Given the description of an element on the screen output the (x, y) to click on. 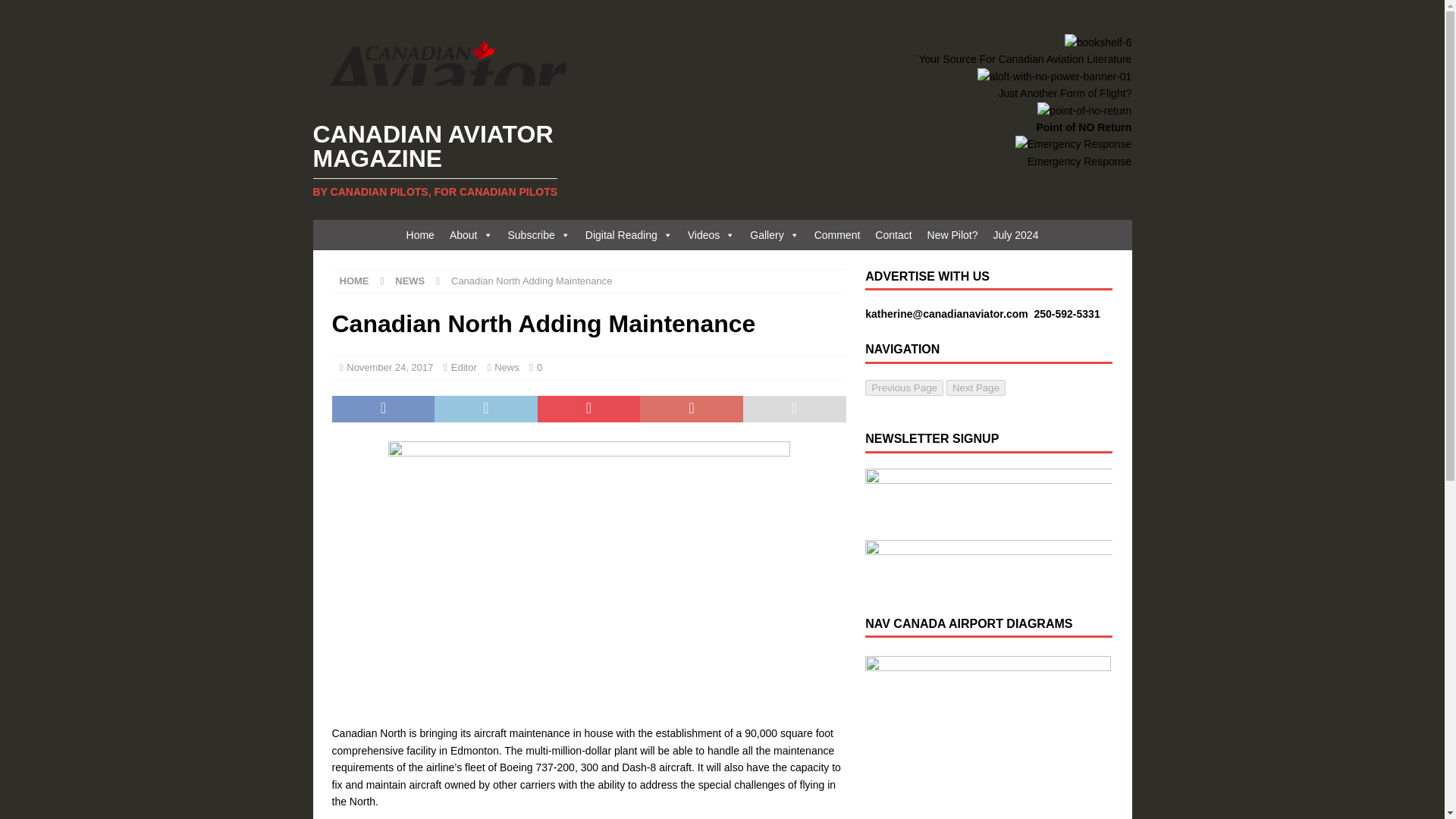
About (471, 235)
aloft-with-no-power-banner-01 (1054, 76)
Videos (710, 235)
Gallery (774, 235)
bookshelf-6 (1097, 42)
Home (420, 235)
Digital Reading (628, 235)
point-of-no-return (1083, 110)
Canadian Aviator Magazine (442, 160)
